Given the description of an element on the screen output the (x, y) to click on. 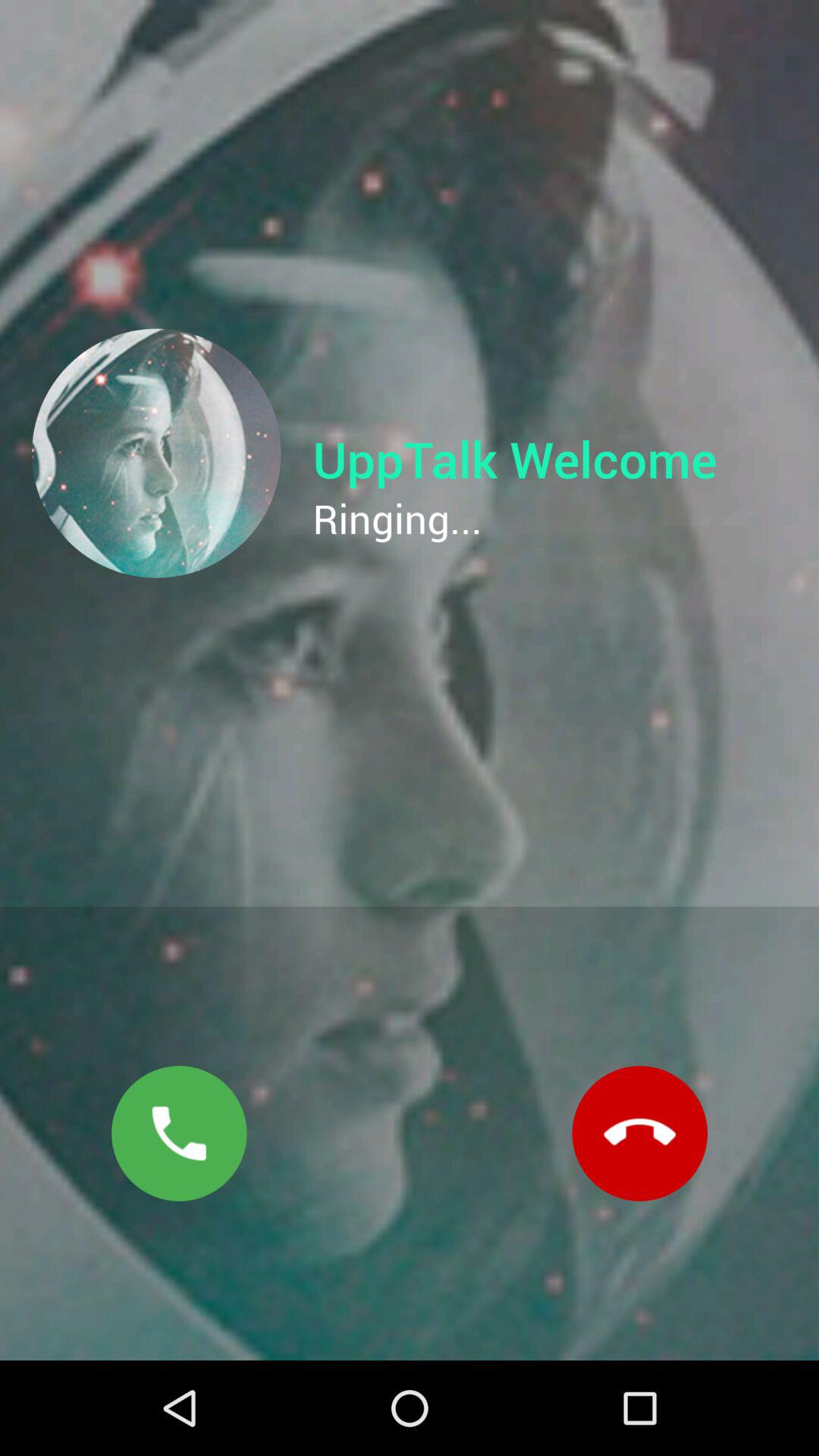
call (178, 1133)
